Given the description of an element on the screen output the (x, y) to click on. 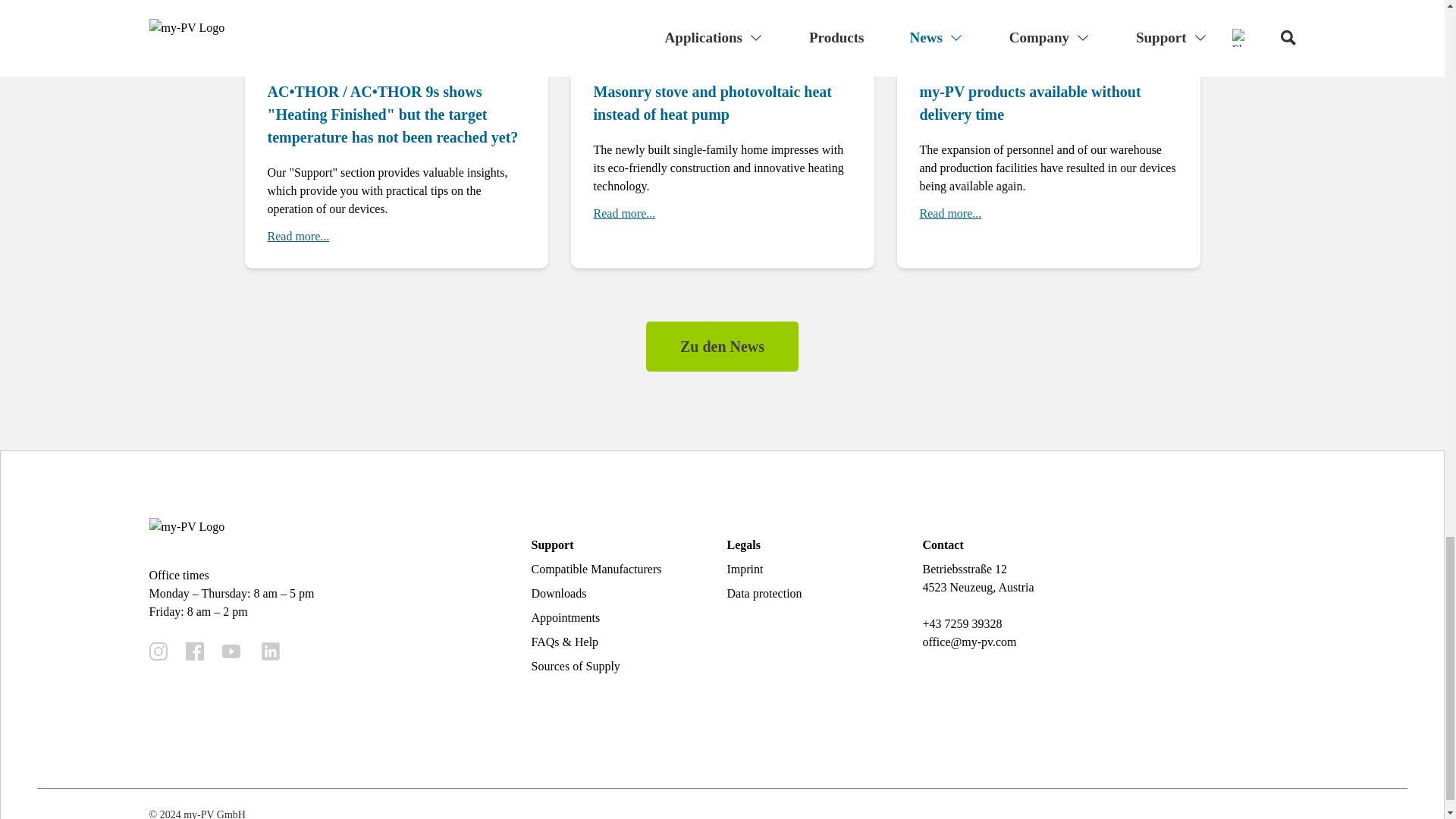
Data protection (764, 593)
Appointments (565, 617)
Downloads (558, 593)
Read more... (623, 213)
Imprint (744, 568)
Read more... (949, 213)
Read more... (297, 236)
Compatible Manufacturers (596, 568)
Sources of Supply (575, 666)
Zu den News (721, 346)
